Given the description of an element on the screen output the (x, y) to click on. 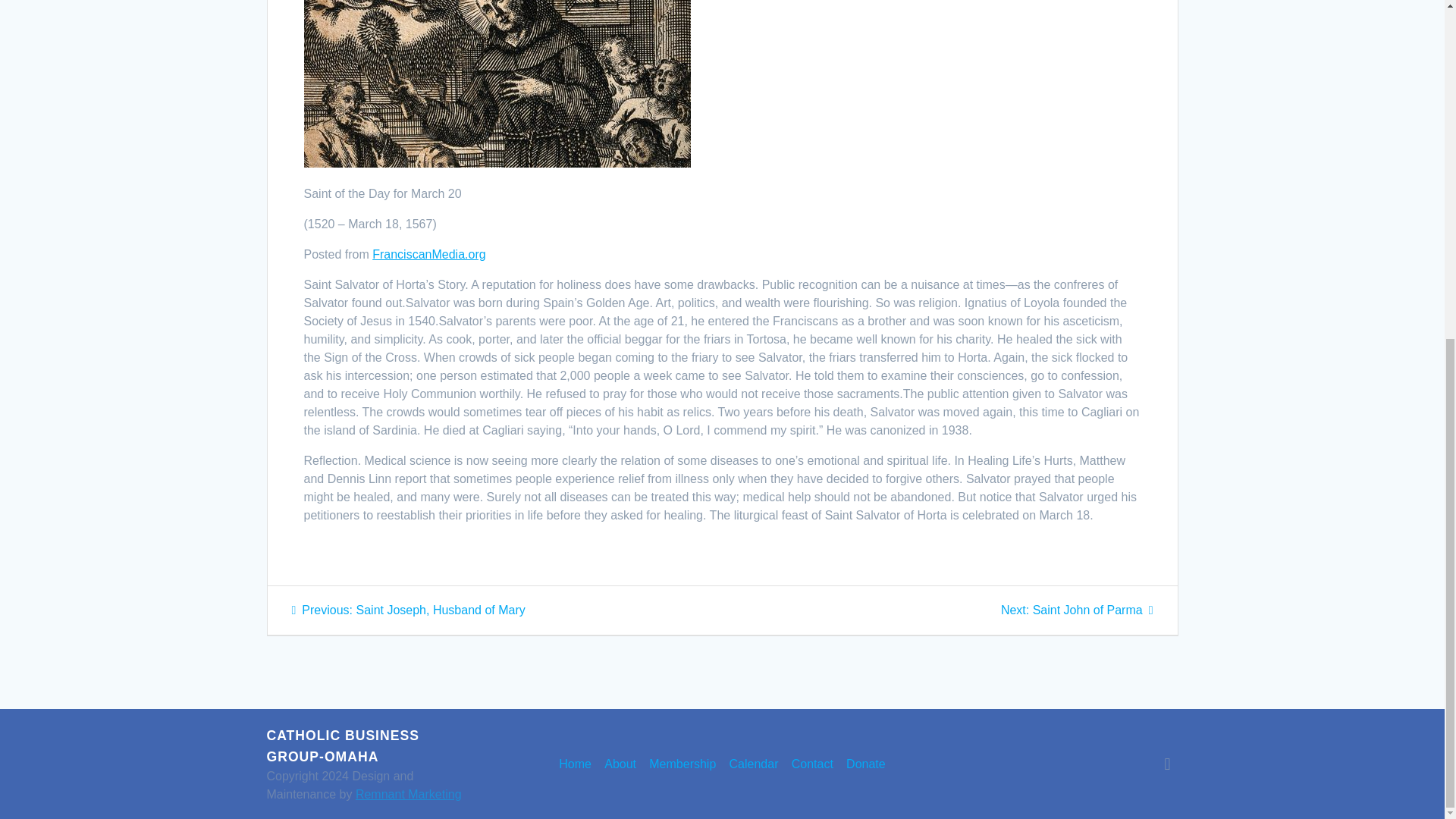
Home (575, 764)
About (620, 764)
Membership (682, 764)
Contact (812, 764)
Remnant Marketing (408, 793)
Donate (865, 764)
FranciscanMedia.org (1077, 609)
Calendar (407, 609)
